Given the description of an element on the screen output the (x, y) to click on. 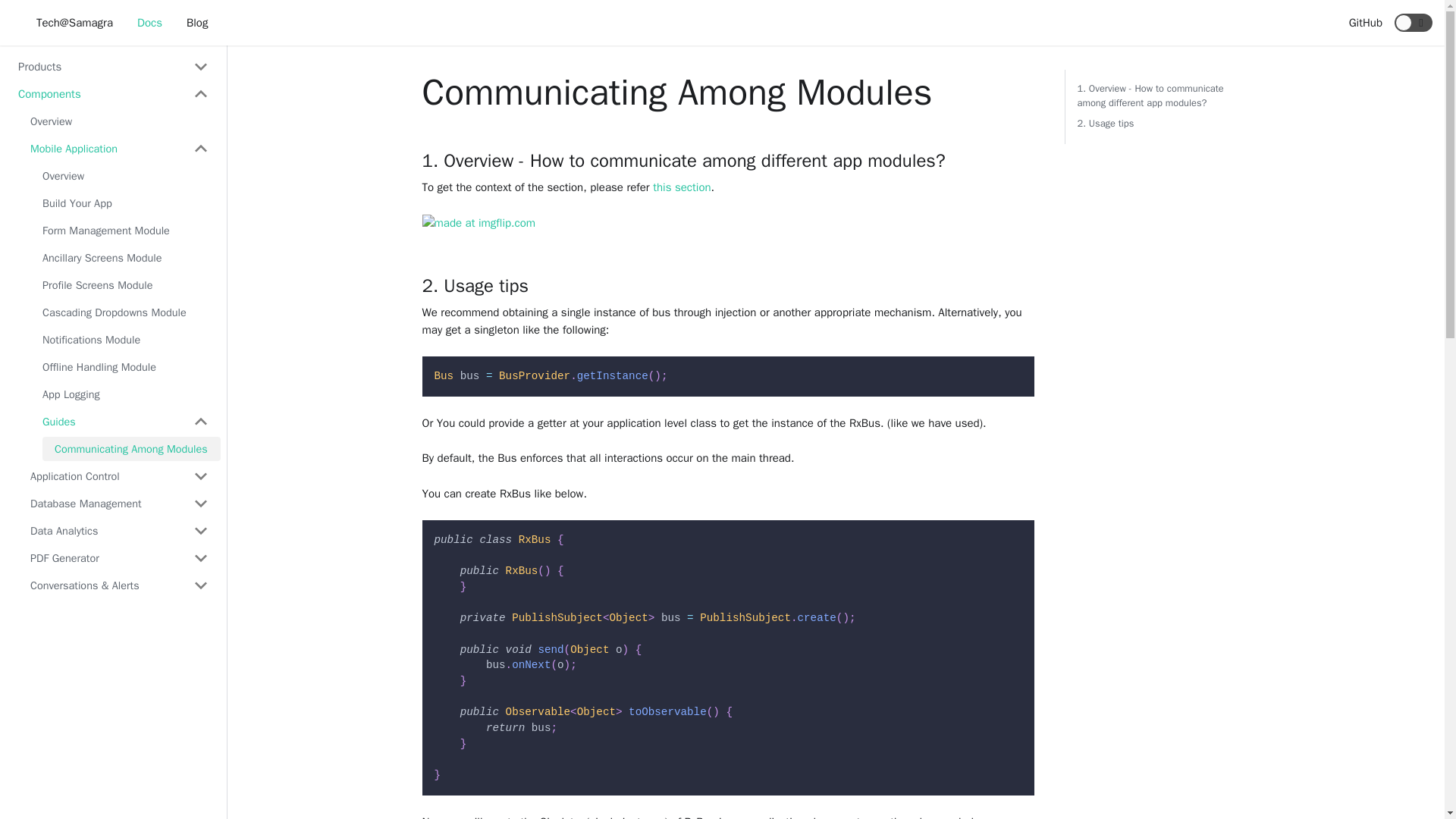
Cascading Dropdowns Module (125, 312)
Communicating Among Modules (131, 448)
Components (113, 93)
made at imgflip.com (478, 221)
Guides (125, 421)
Overview (125, 175)
GitHub (1365, 23)
Mobile Application (119, 148)
App Logging (125, 394)
